Given the description of an element on the screen output the (x, y) to click on. 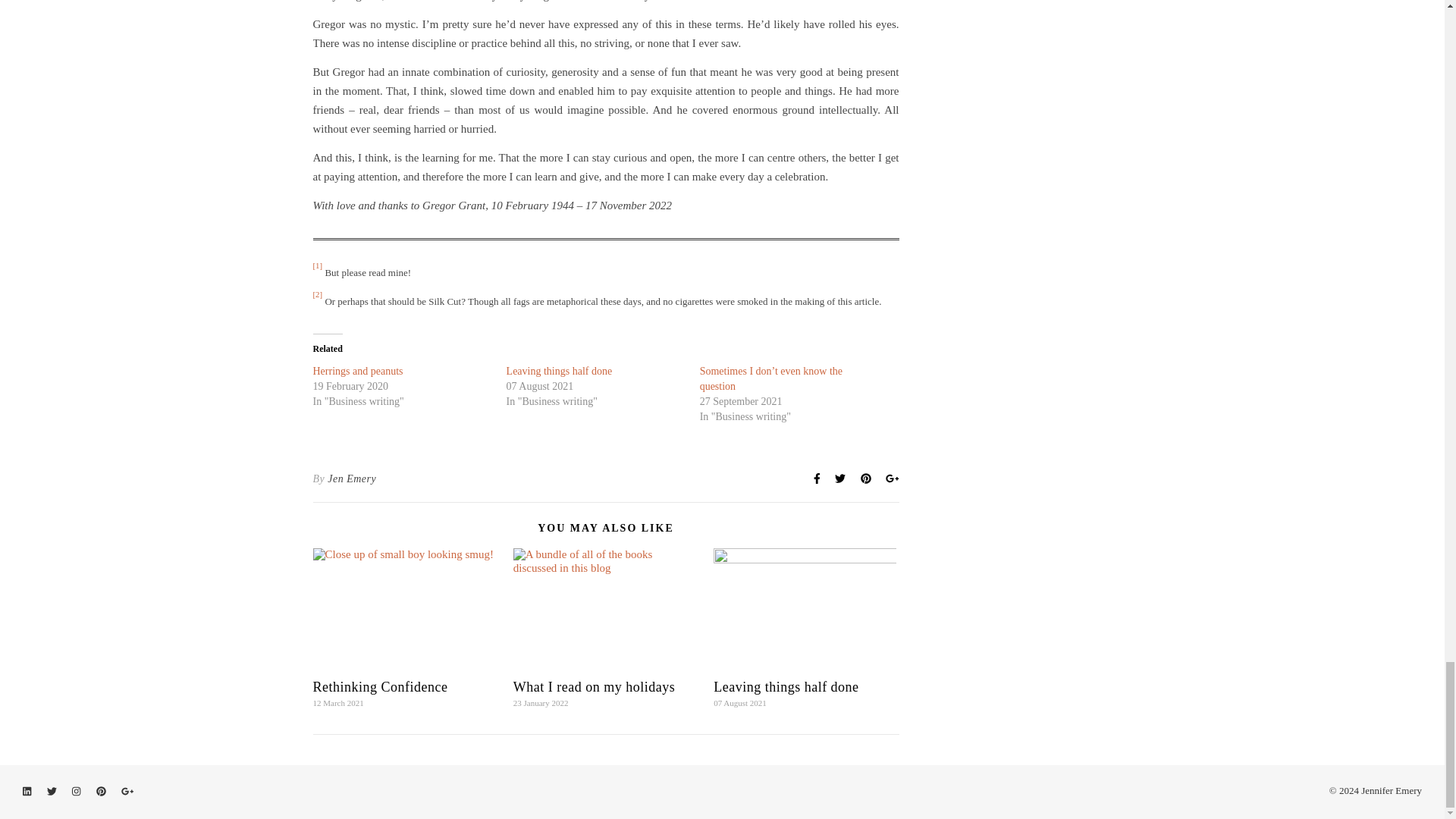
Leaving things half done (559, 370)
Posts by Jen Emery (351, 478)
Herrings and peanuts (358, 370)
